Given the description of an element on the screen output the (x, y) to click on. 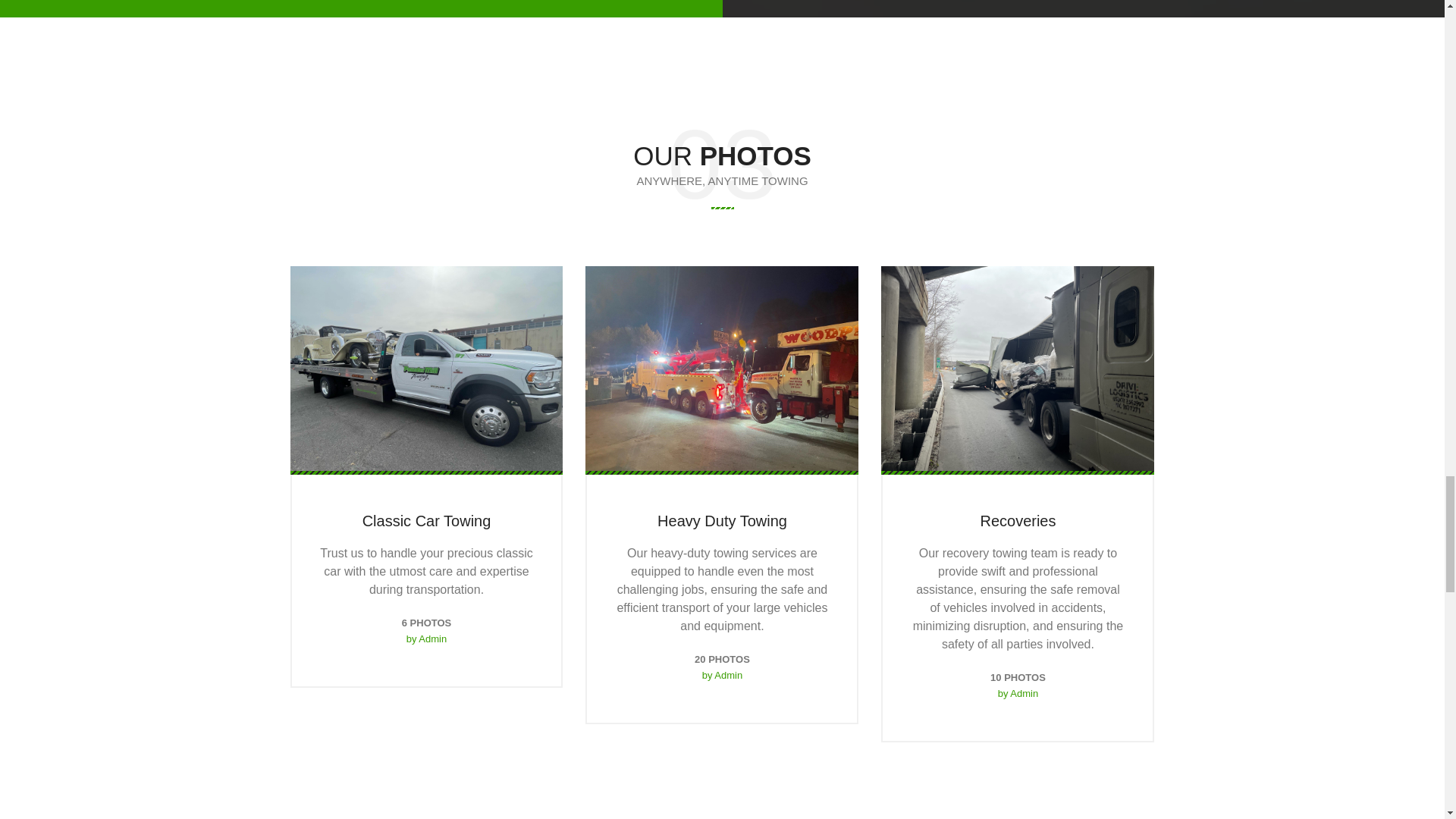
by Admin (720, 675)
Recoveries (1017, 520)
by Admin (426, 638)
by Admin (1016, 693)
Classic Car Towing (427, 520)
Heavy Duty Towing (722, 520)
